Given the description of an element on the screen output the (x, y) to click on. 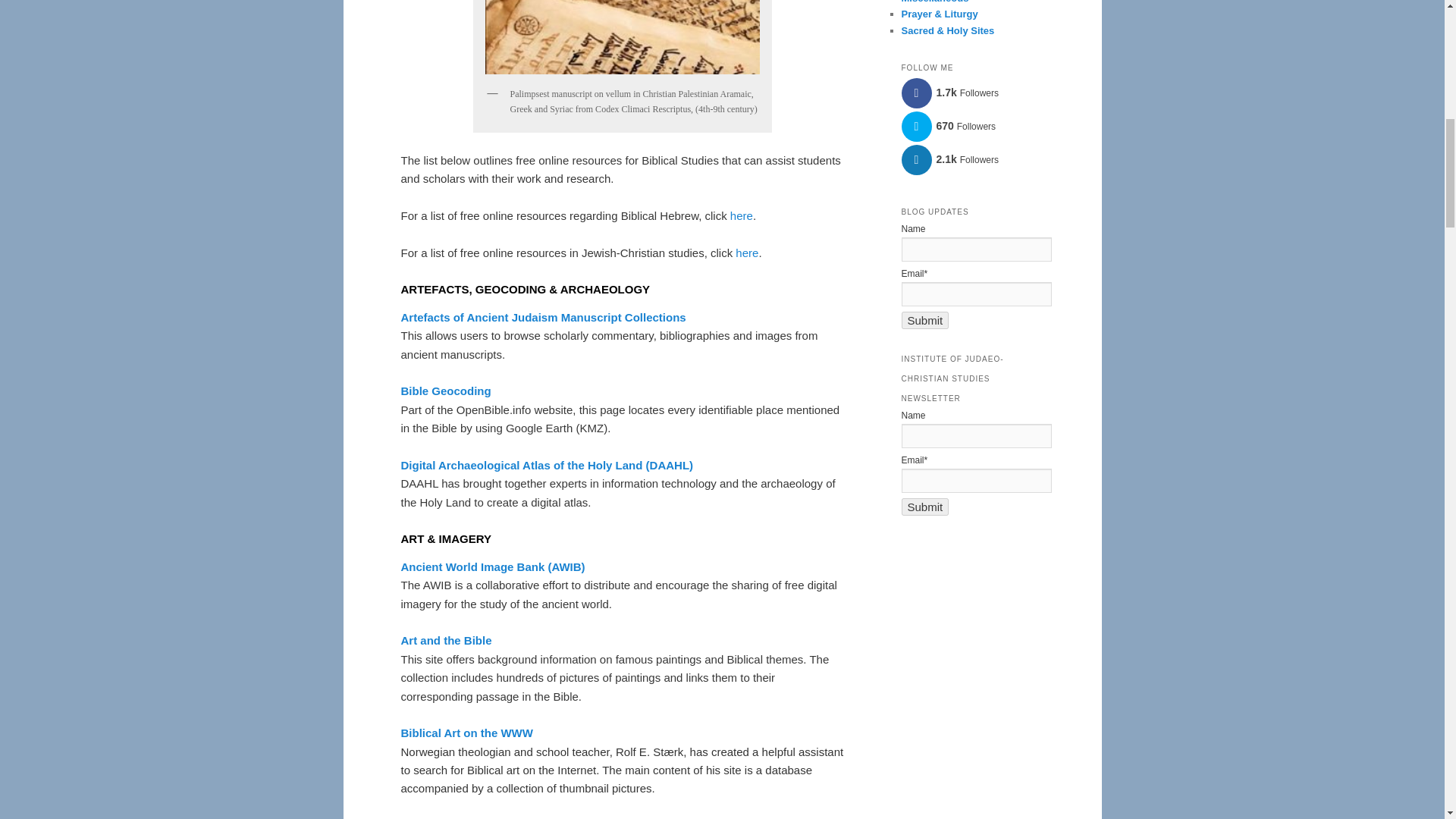
Biblical Art on the WWW (466, 732)
here (741, 215)
Submit (925, 506)
Artefacts of Ancient Judaism Manuscript Collections (542, 317)
Bible Geocoding (445, 390)
Submit (925, 320)
here (746, 252)
Art and the Bible (446, 640)
